Given the description of an element on the screen output the (x, y) to click on. 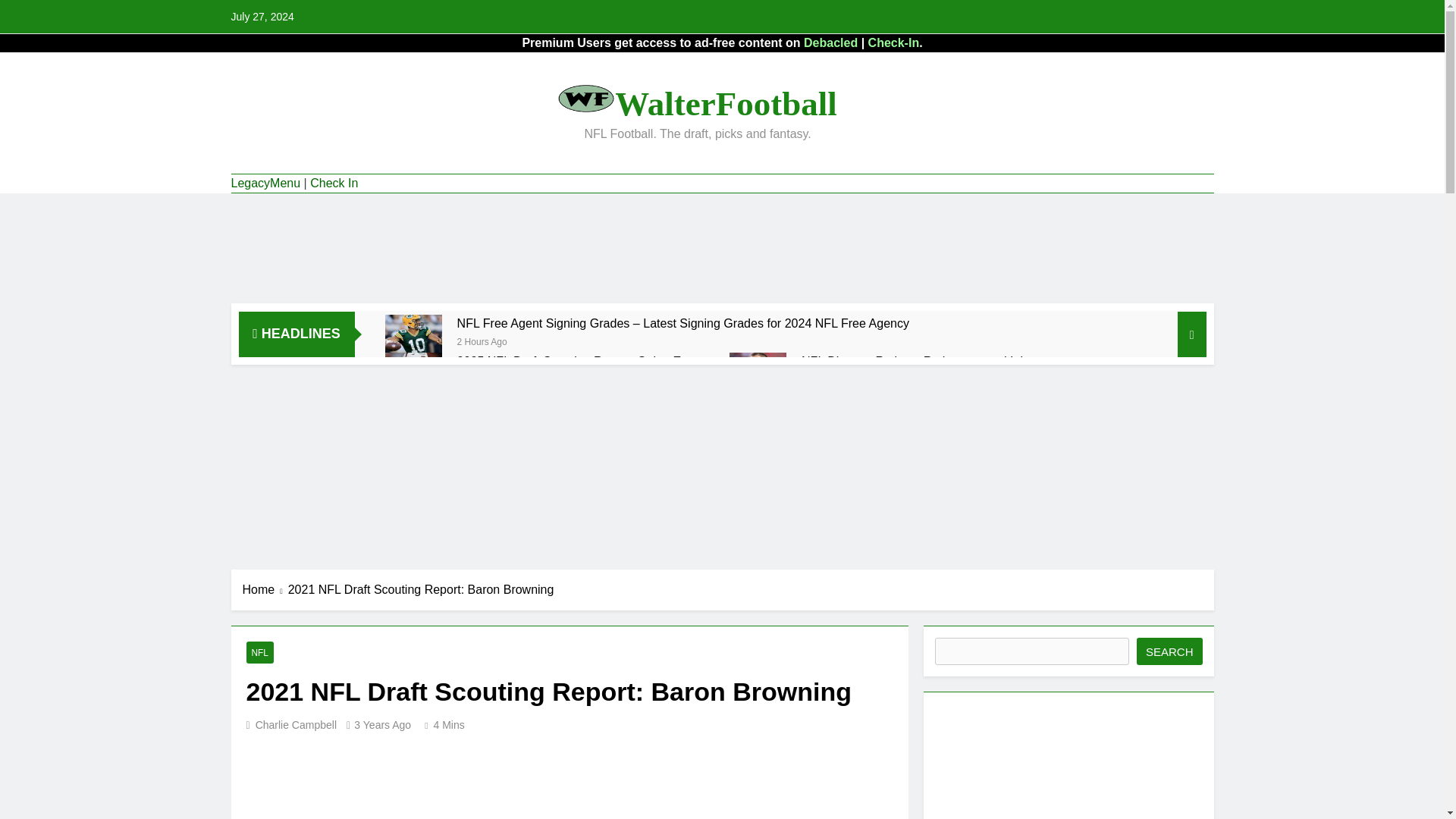
WalterFootball (724, 103)
LegacyMenu (264, 183)
Check In (334, 183)
Debacled (830, 42)
2025 NFL Draft Scouting Report: Quinn Ewers (413, 371)
Check-In (893, 42)
2025 NFL Draft Scouting Report: Quinn Ewers (581, 360)
NFL Disaster Ratings: Retirement and Injury (757, 371)
